Given the description of an element on the screen output the (x, y) to click on. 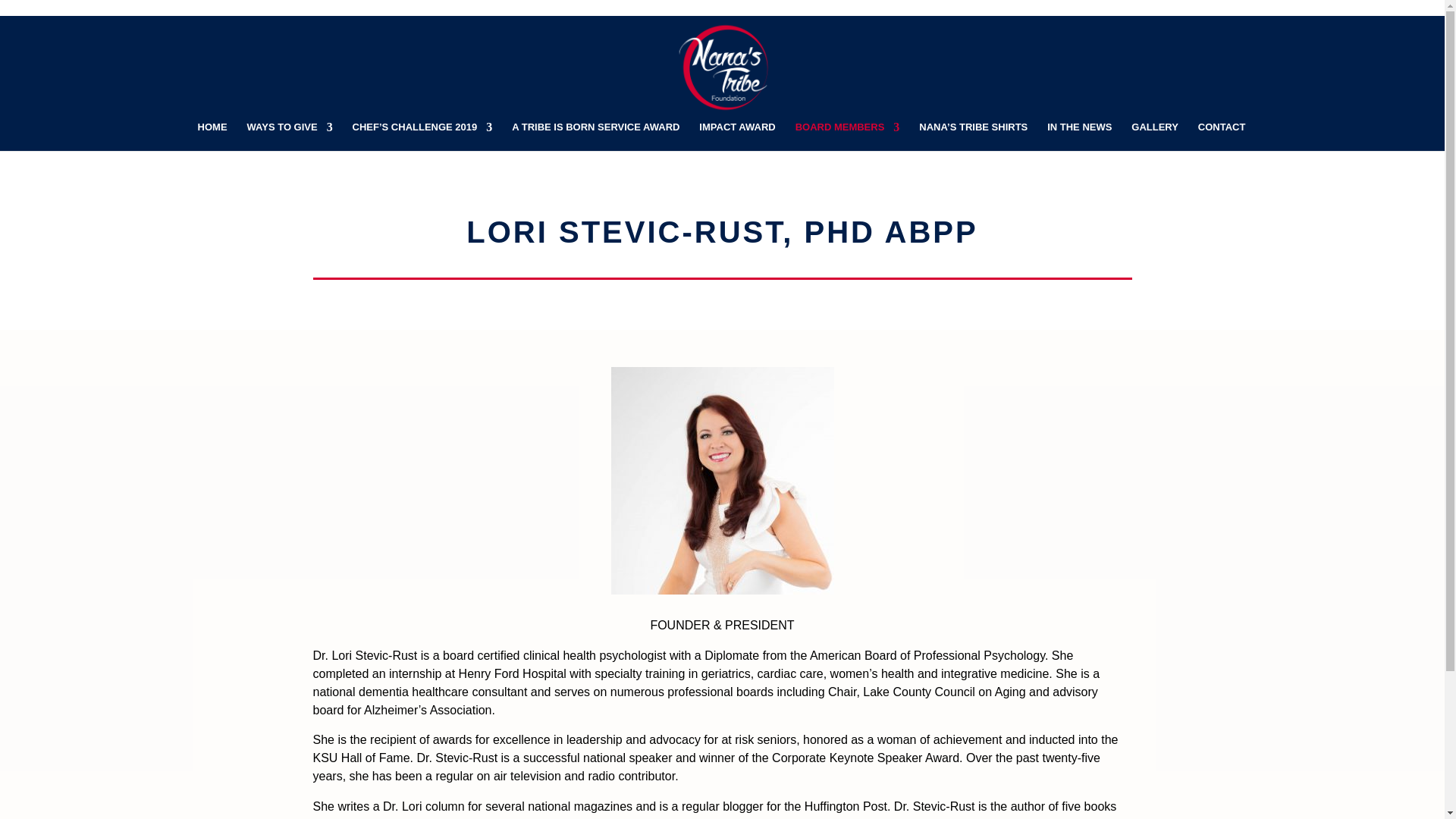
WAYS TO GIVE (288, 136)
IMPACT AWARD (736, 136)
GALLERY (1154, 136)
BOARD MEMBERS (846, 136)
IN THE NEWS (1079, 136)
HOME (212, 136)
dr.-lori-in-white (722, 480)
CONTACT (1222, 136)
A TRIBE IS BORN SERVICE AWARD (595, 136)
